Given the description of an element on the screen output the (x, y) to click on. 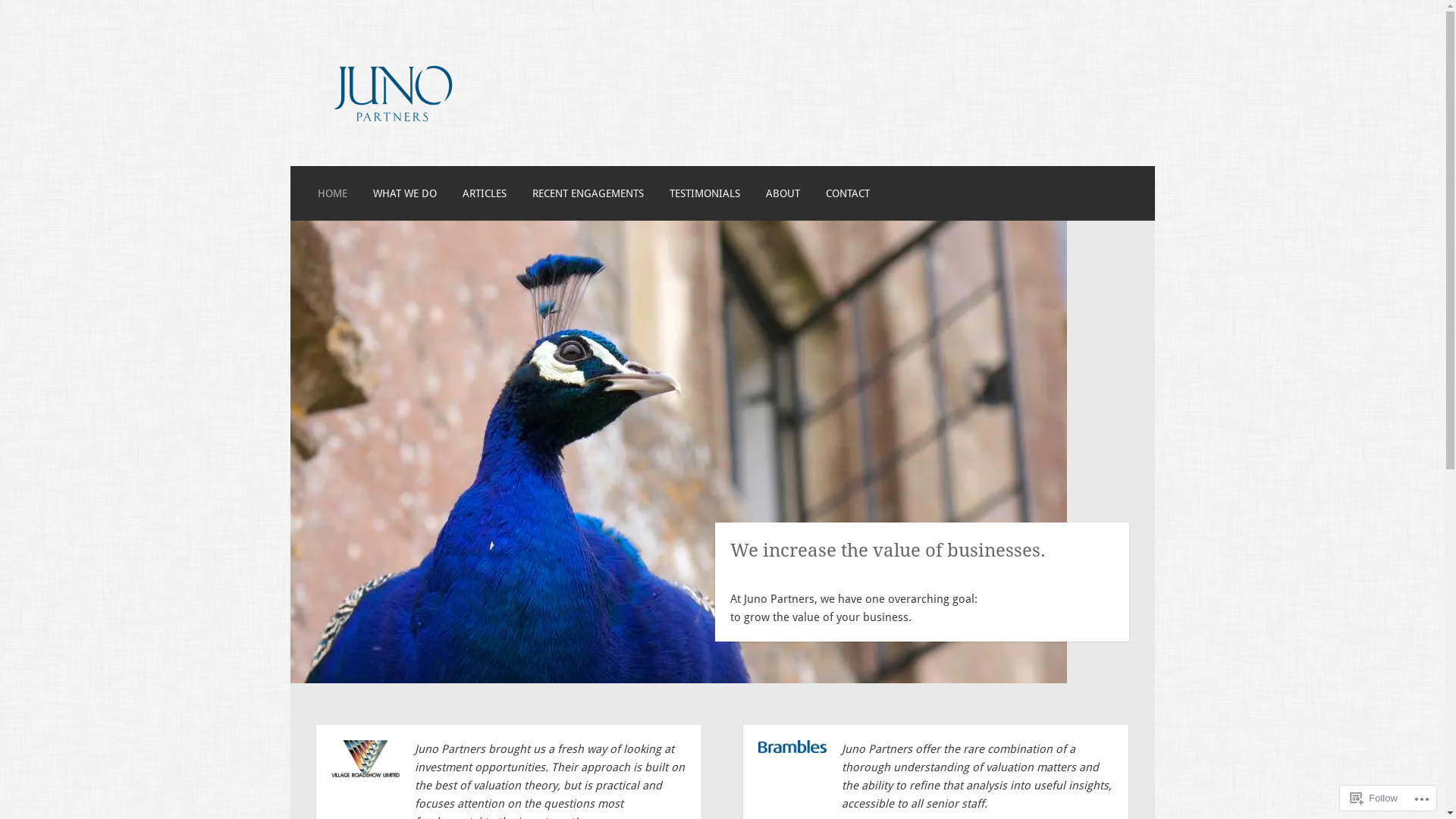
WHAT WE DO Element type: text (404, 193)
CONTACT Element type: text (847, 193)
Juno Partners Element type: text (417, 167)
Follow Element type: text (1373, 797)
RECENT ENGAGEMENTS Element type: text (587, 193)
HOME Element type: text (332, 193)
TESTIMONIALS Element type: text (704, 193)
ABOUT Element type: text (782, 193)
Search Element type: text (42, 17)
ARTICLES Element type: text (484, 193)
Juno Partners Element type: hover (391, 131)
